Given the description of an element on the screen output the (x, y) to click on. 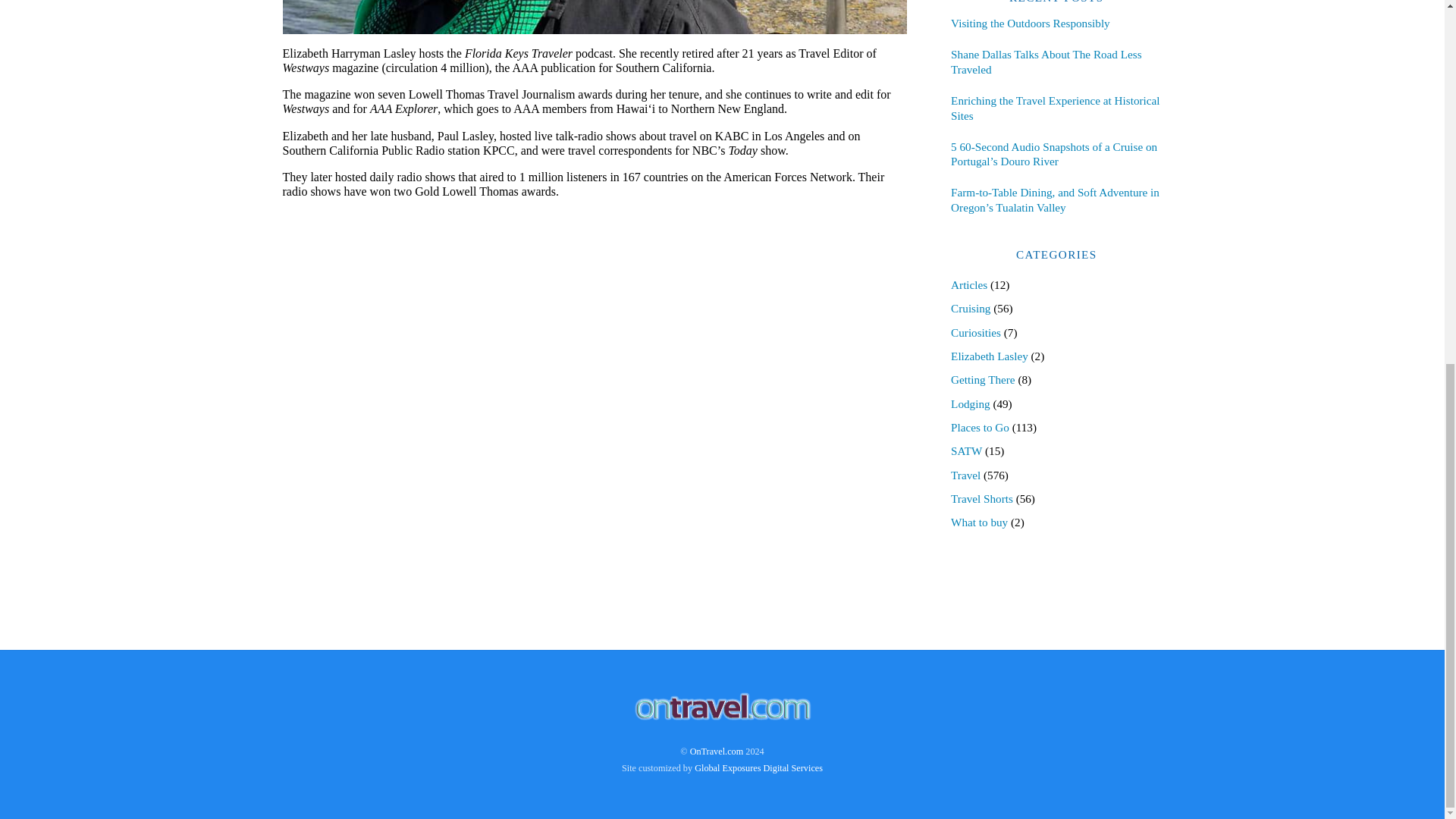
Elizabeth Lasley (988, 355)
SATW (965, 450)
Travel Shorts (981, 498)
OnTravel.com (717, 751)
What to buy (978, 521)
Global Exposures Digital Services (758, 767)
Curiosities (975, 332)
Getting There (982, 379)
Shane Dallas Talks About The Road Less Traveled (1055, 61)
Lodging (970, 403)
